Given the description of an element on the screen output the (x, y) to click on. 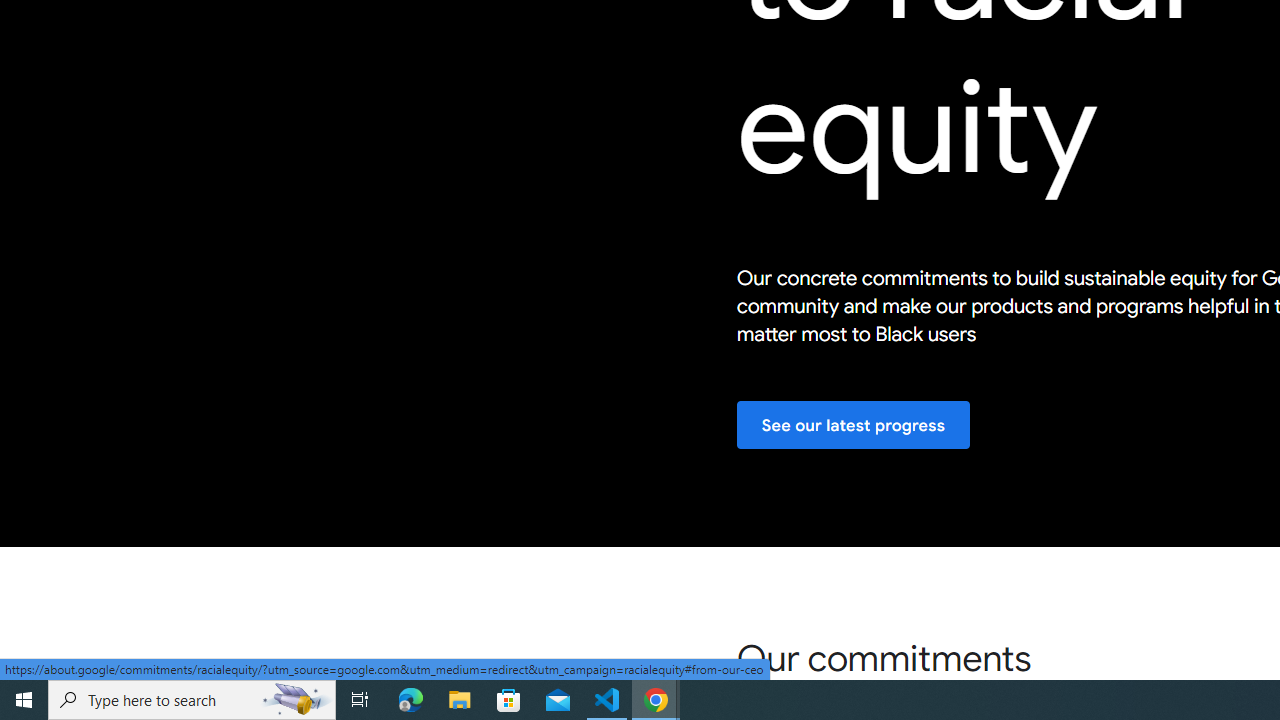
See our latest progress (853, 425)
